Given the description of an element on the screen output the (x, y) to click on. 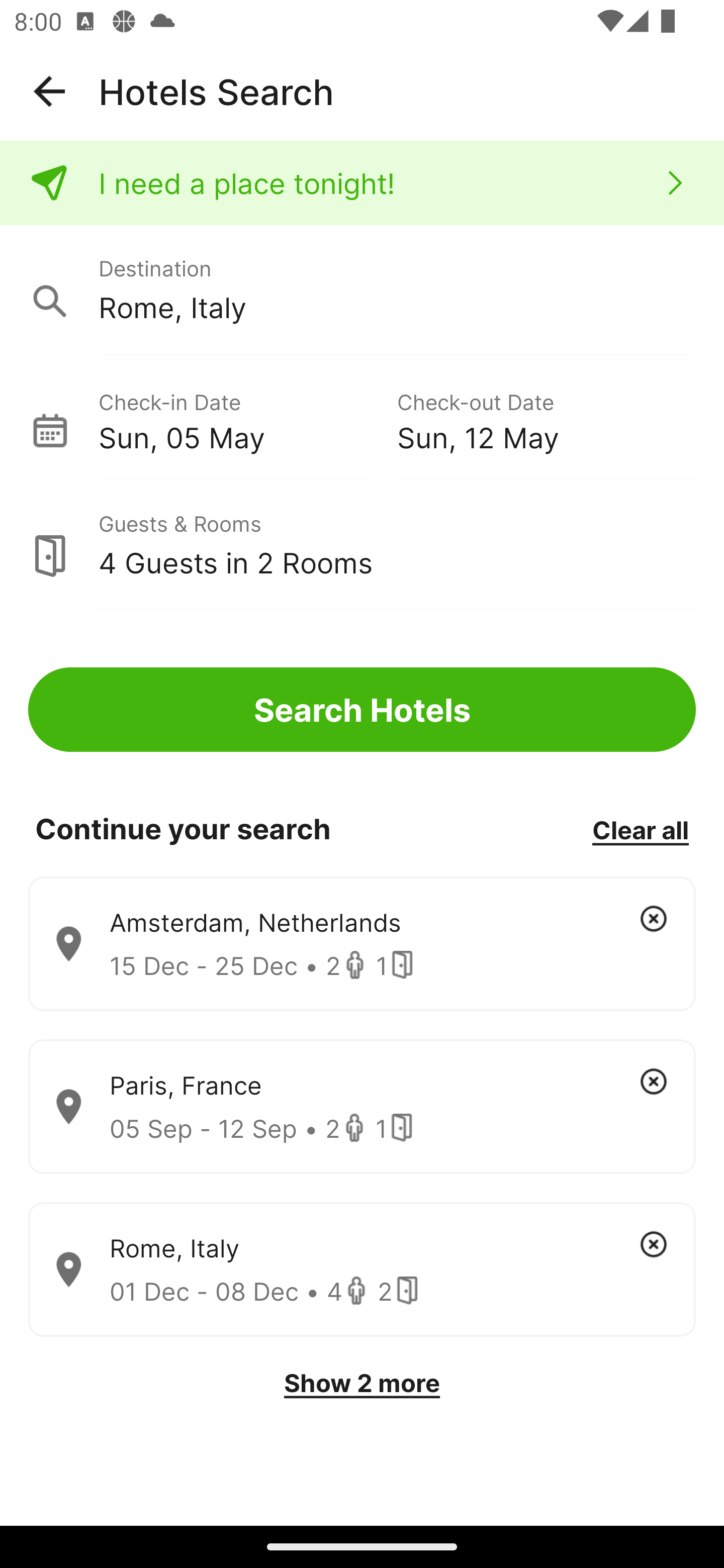
I need a place tonight! (362, 183)
Destination Rome, Italy (362, 290)
Check-in Date Sun, 05 May (247, 418)
Check-out Date Sun, 12 May (546, 418)
Guests & Rooms 4 Guests in 2 Rooms (362, 545)
Search Hotels (361, 709)
Clear all (640, 829)
Amsterdam, Netherlands 15 Dec - 25 Dec • 2  1  (361, 943)
Paris, France 05 Sep - 12 Sep • 2  1  (361, 1106)
Rome, Italy 01 Dec - 08 Dec • 4  2  (361, 1269)
Show 2 more (362, 1382)
